Given the description of an element on the screen output the (x, y) to click on. 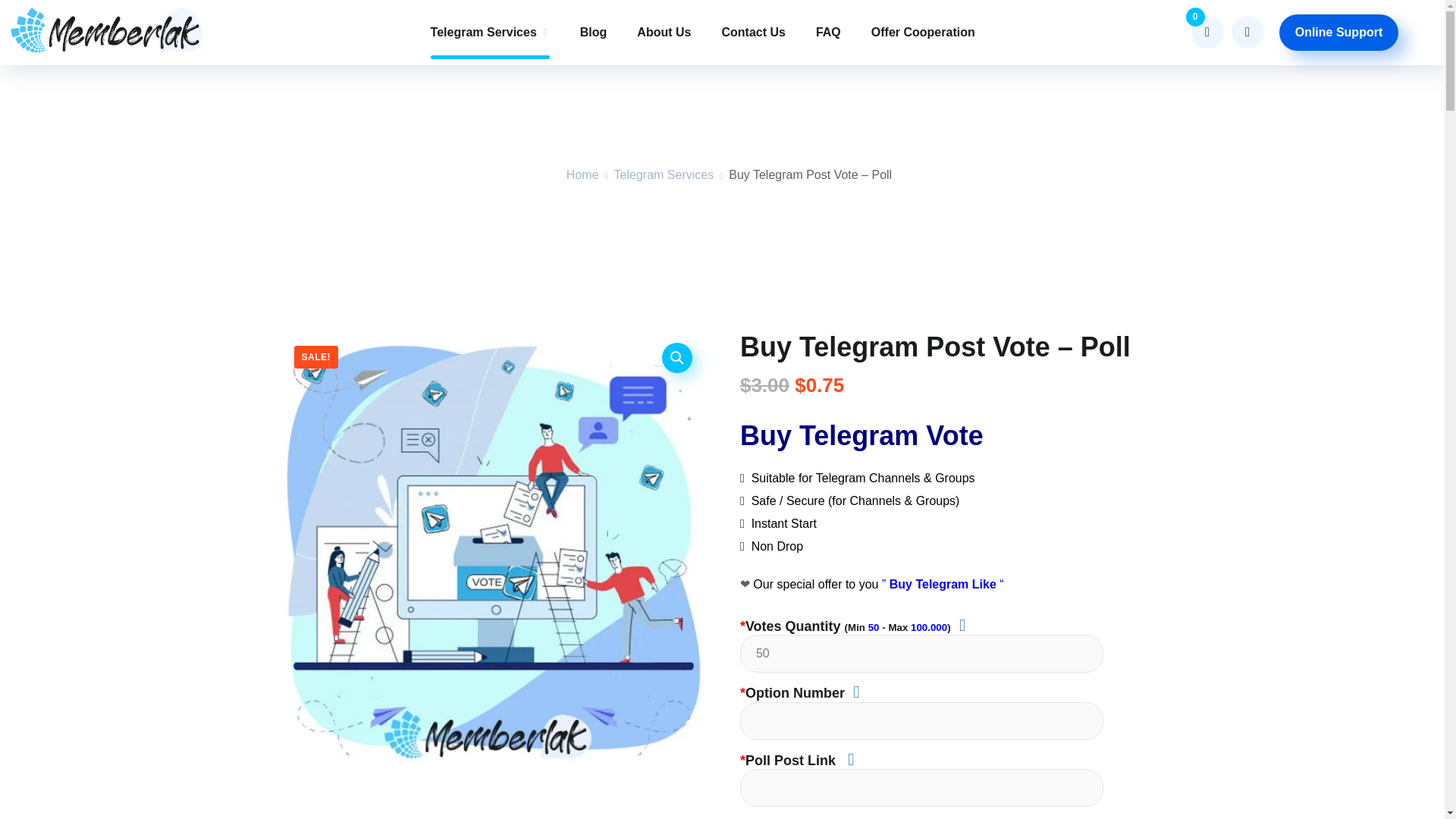
50 (921, 653)
Telegram Services (490, 31)
Online Support (1339, 31)
About Us (663, 31)
Home (582, 174)
Offer Cooperation (922, 31)
View your shopping cart (1207, 31)
0 (1207, 31)
Contact Us (752, 31)
